Given the description of an element on the screen output the (x, y) to click on. 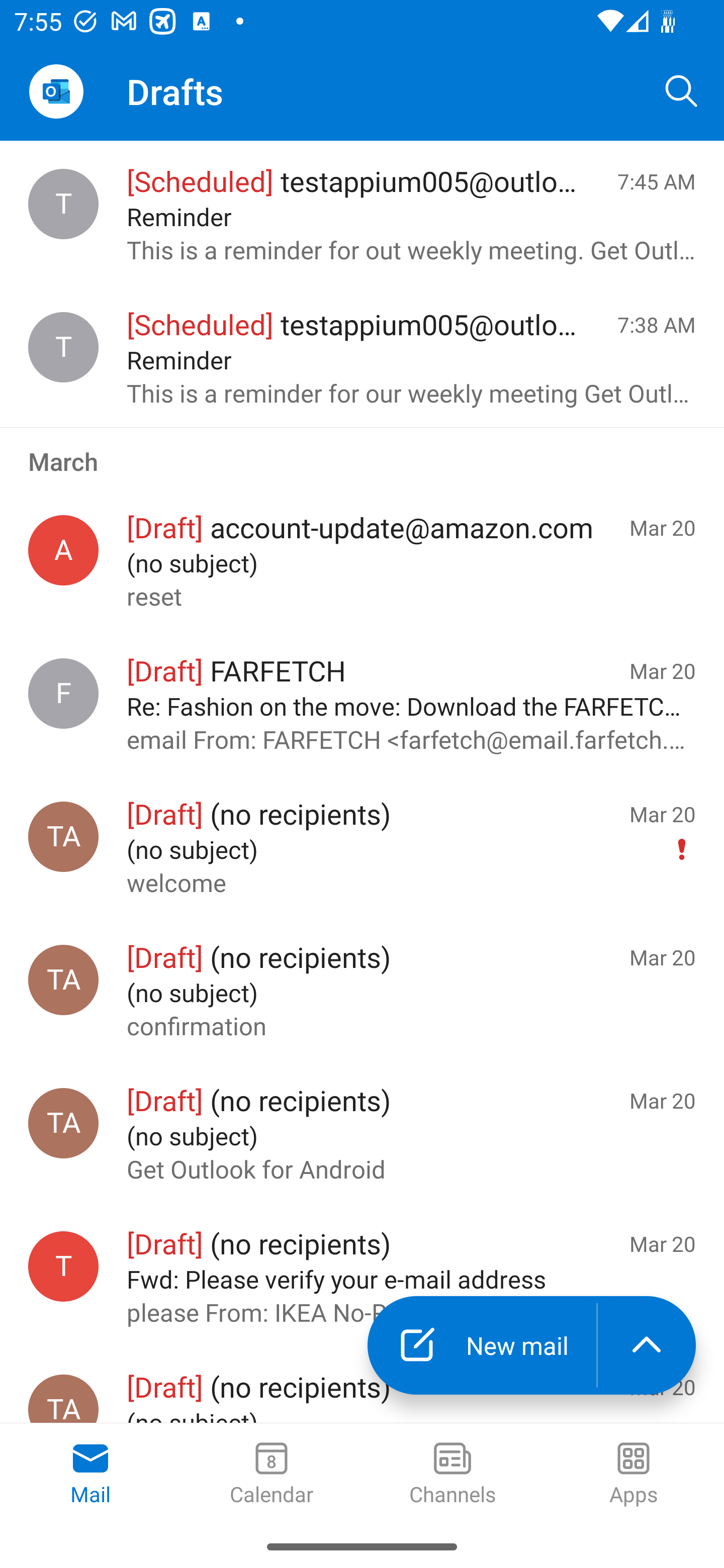
Search, ,  (681, 90)
Open Navigation Drawer (55, 91)
account-update@amazon.com (63, 549)
FARFETCH, testappium002@outlook.com (63, 693)
Test Appium, testappium002@outlook.com (63, 836)
Test Appium, testappium002@outlook.com (63, 979)
Test Appium, testappium002@outlook.com (63, 1123)
testappium002@outlook.com (63, 1265)
New mail (481, 1344)
launch the extended action menu (646, 1344)
Calendar (271, 1474)
Channels (452, 1474)
Apps (633, 1474)
